Given the description of an element on the screen output the (x, y) to click on. 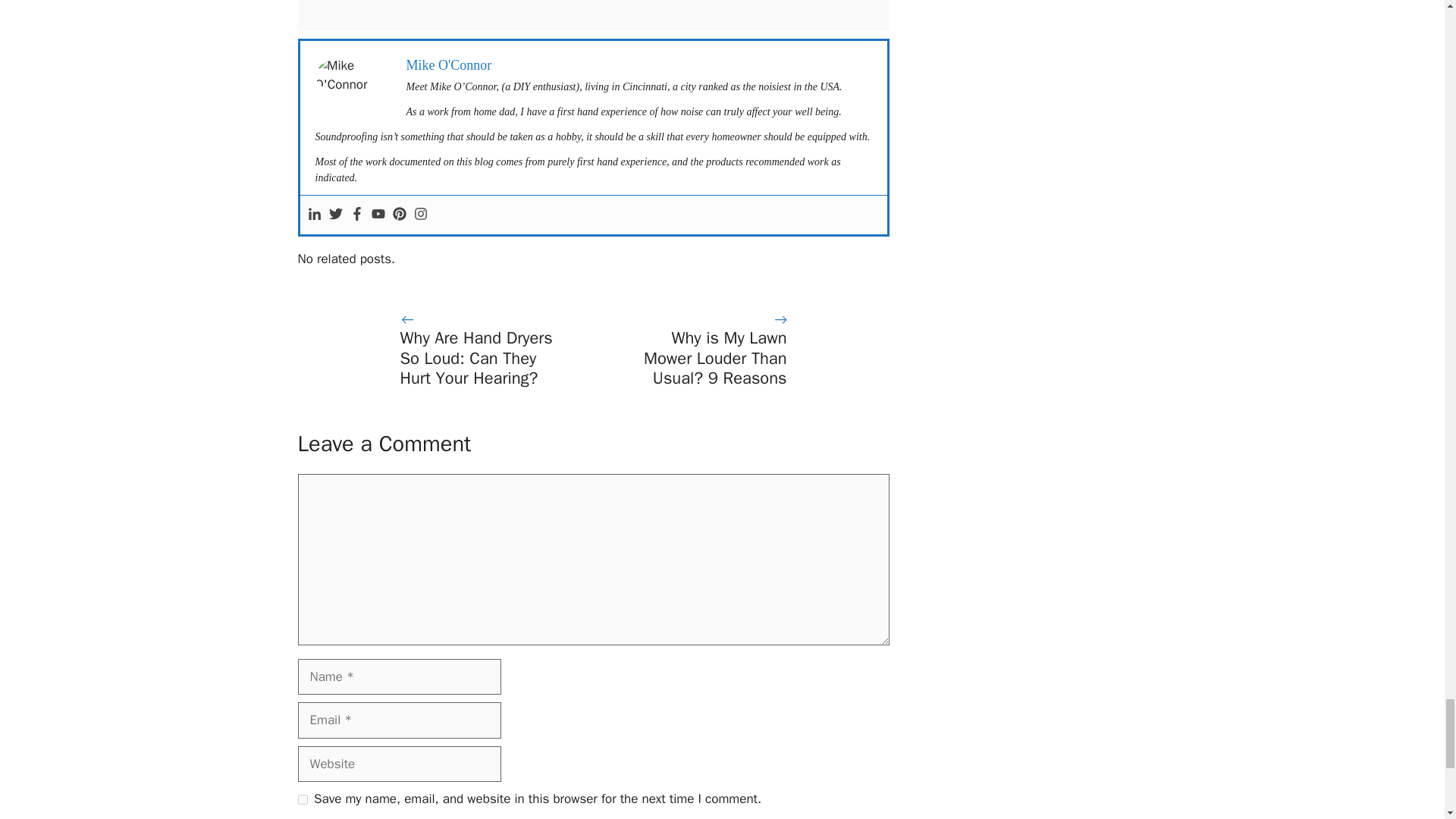
yes (302, 799)
